Given the description of an element on the screen output the (x, y) to click on. 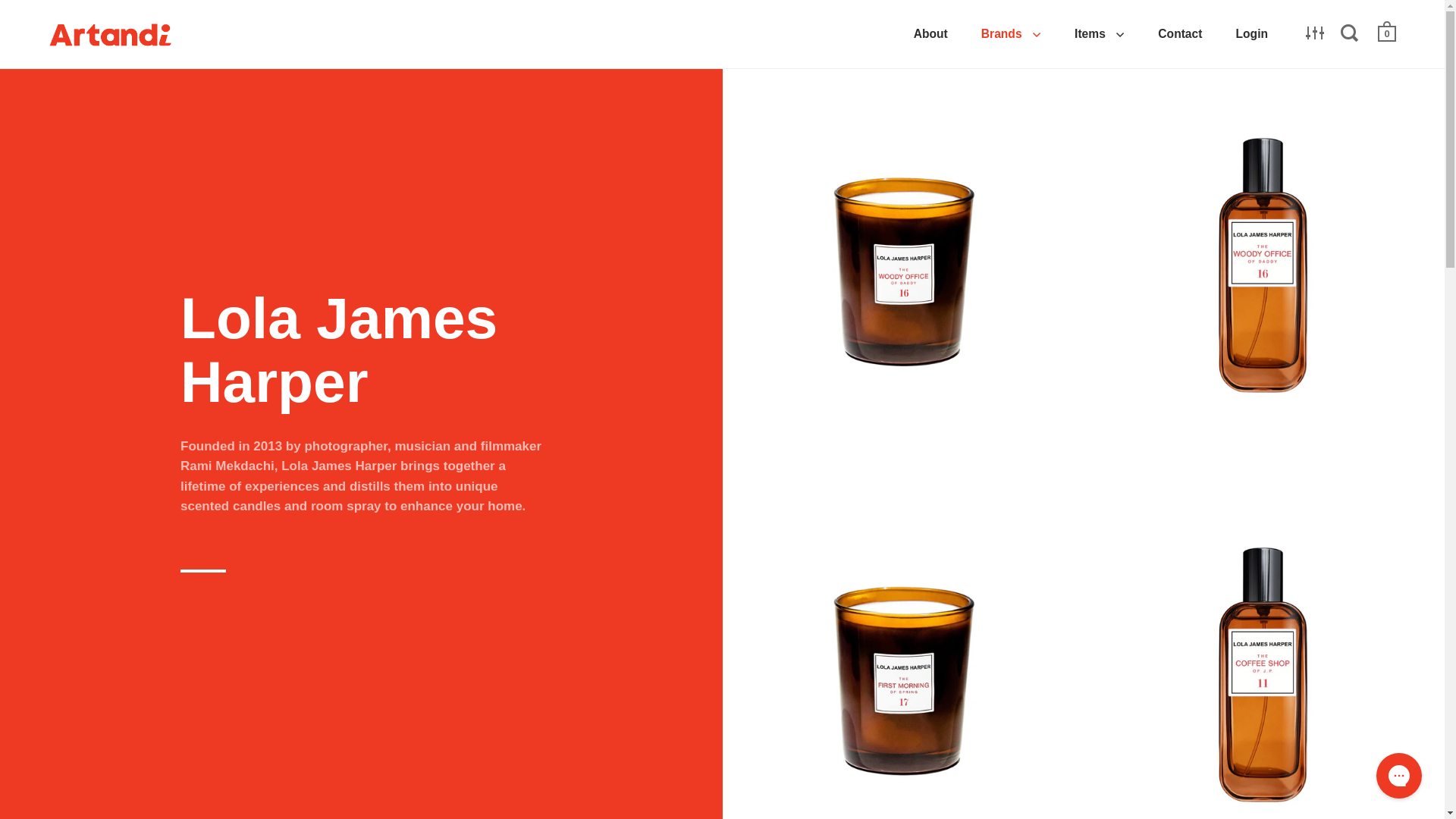
Login (1251, 33)
Items (1099, 33)
Open cart (1387, 31)
Gorgias live chat messenger (1398, 775)
Contact (1179, 33)
About (930, 33)
Brands (1011, 33)
Open search (1350, 32)
